Given the description of an element on the screen output the (x, y) to click on. 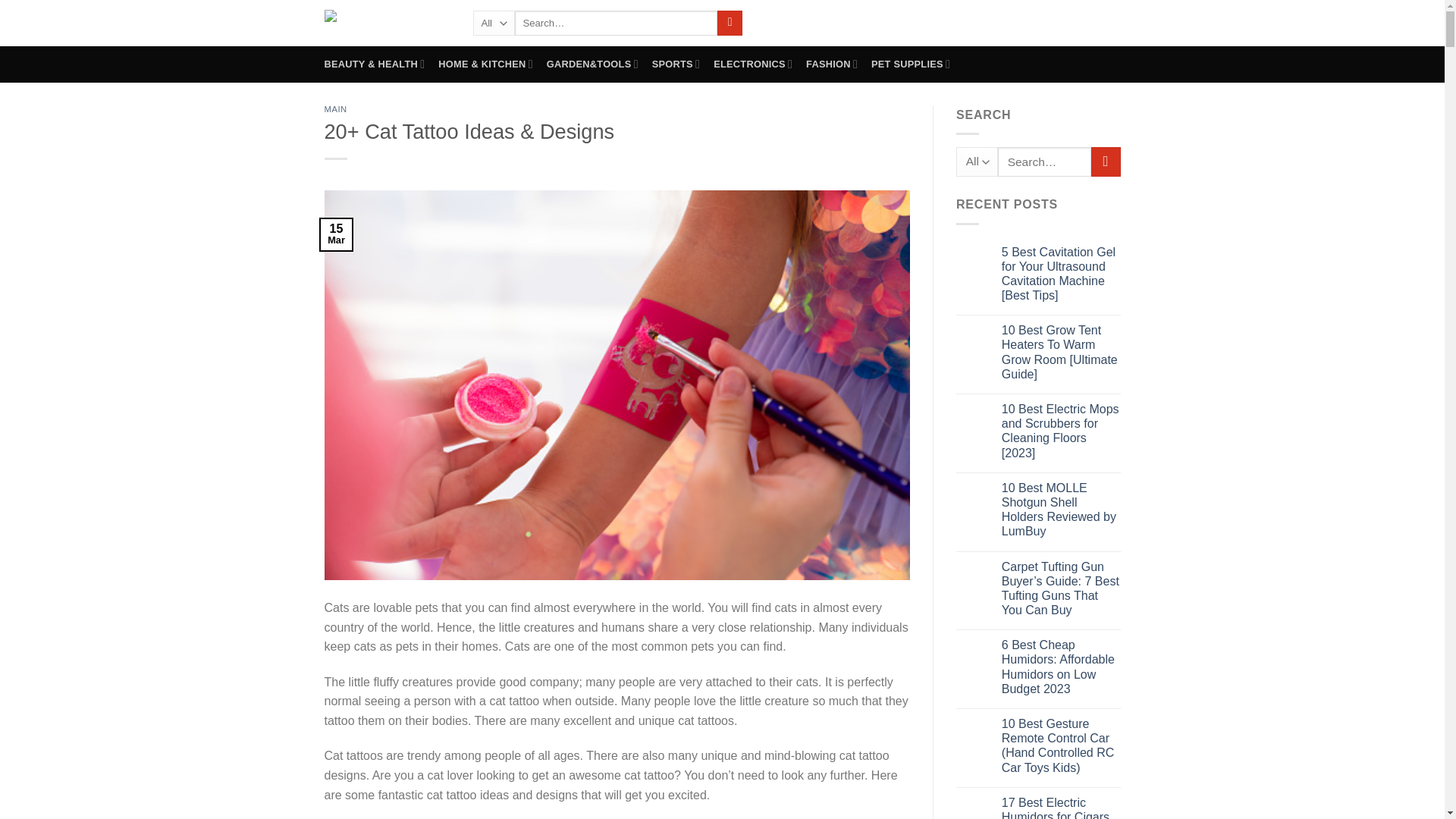
10 Best MOLLE Shotgun Shell Holders Reviewed by LumBuy (1061, 509)
Search (729, 23)
ELECTRONICS (752, 63)
LumBuy (386, 22)
FASHION (831, 63)
Cart (1079, 22)
PET SUPPLIES (910, 63)
SPORTS (676, 63)
